Given the description of an element on the screen output the (x, y) to click on. 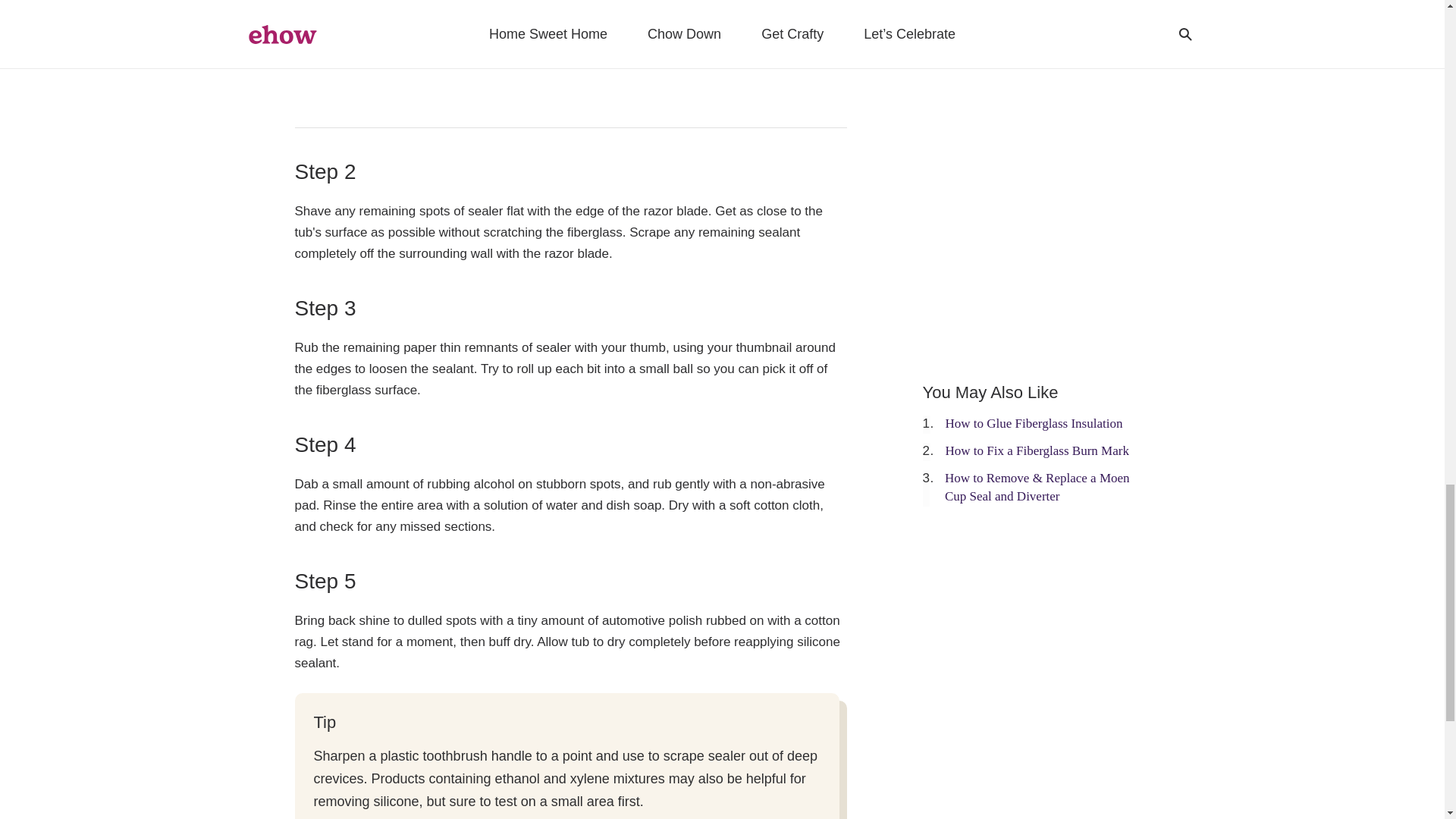
How to Fix a Fiberglass Burn Mark (1036, 450)
How to Glue Fiberglass Insulation (1033, 423)
